Given the description of an element on the screen output the (x, y) to click on. 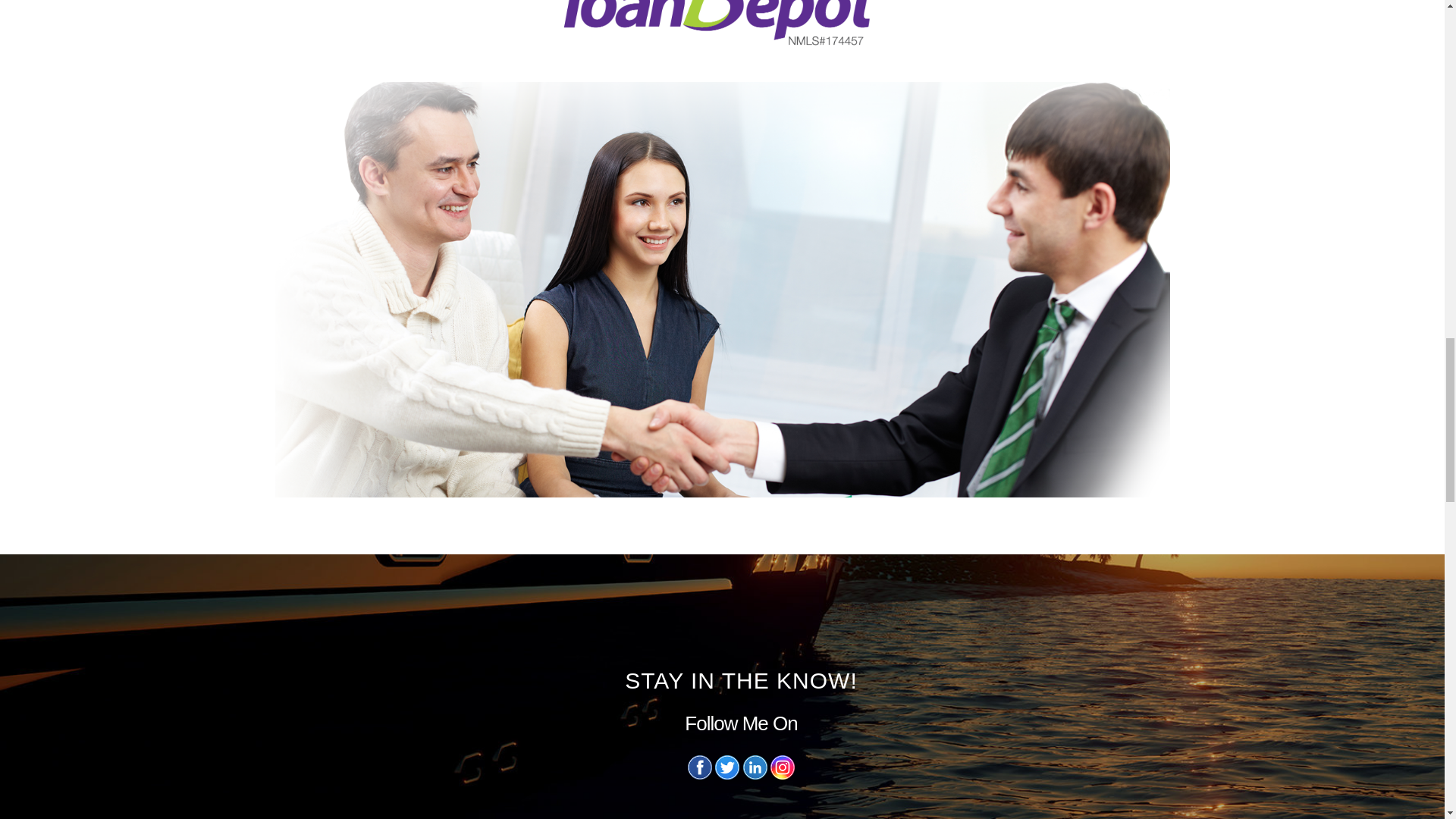
Follow us on Twitter (726, 775)
Connect with us on LinkedIn (754, 775)
Find us on Facebook (699, 775)
Follow Us on Instagram (782, 775)
